Given the description of an element on the screen output the (x, y) to click on. 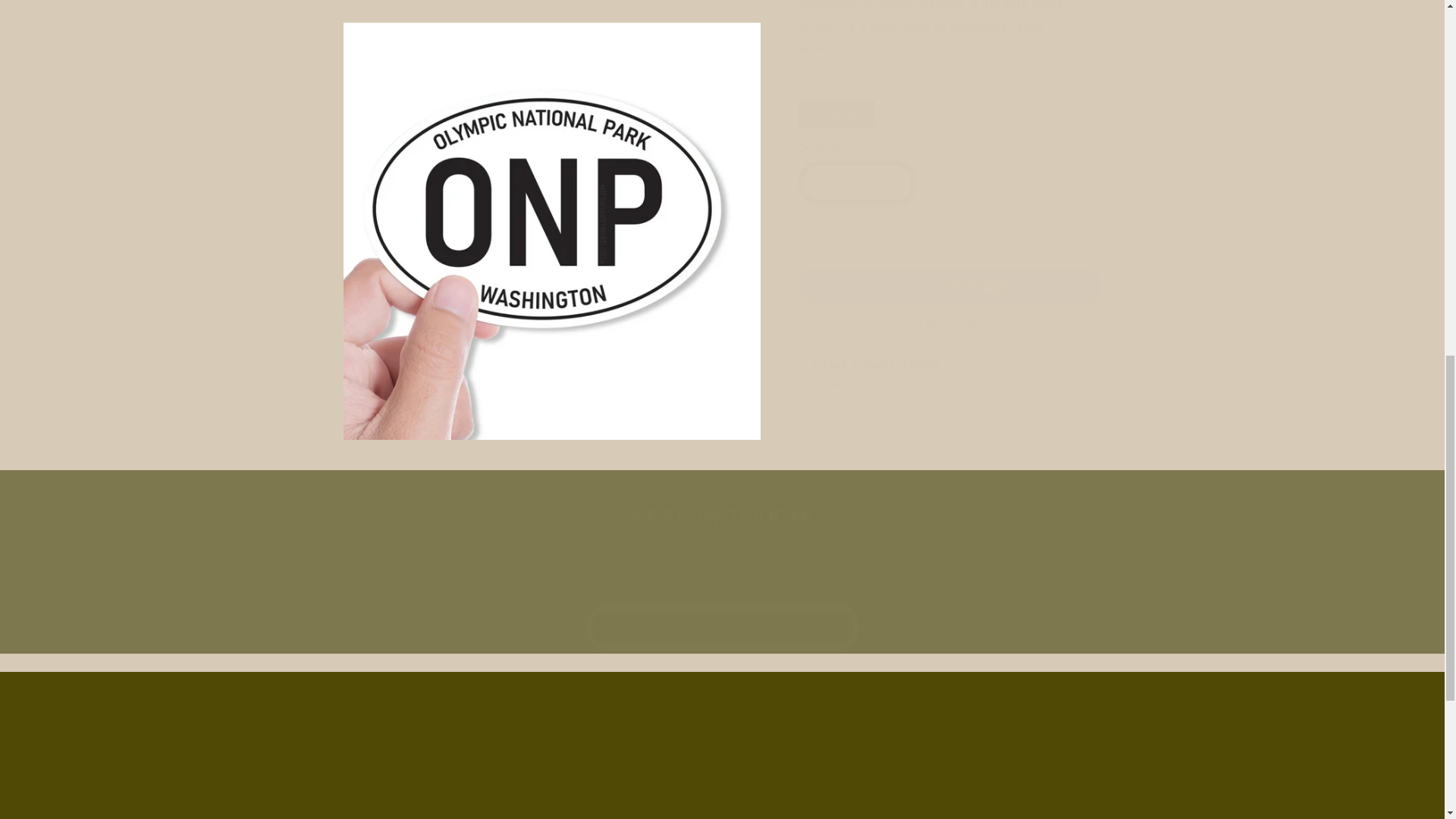
Email (722, 627)
KEEP IN TOUCH! (721, 516)
